Given the description of an element on the screen output the (x, y) to click on. 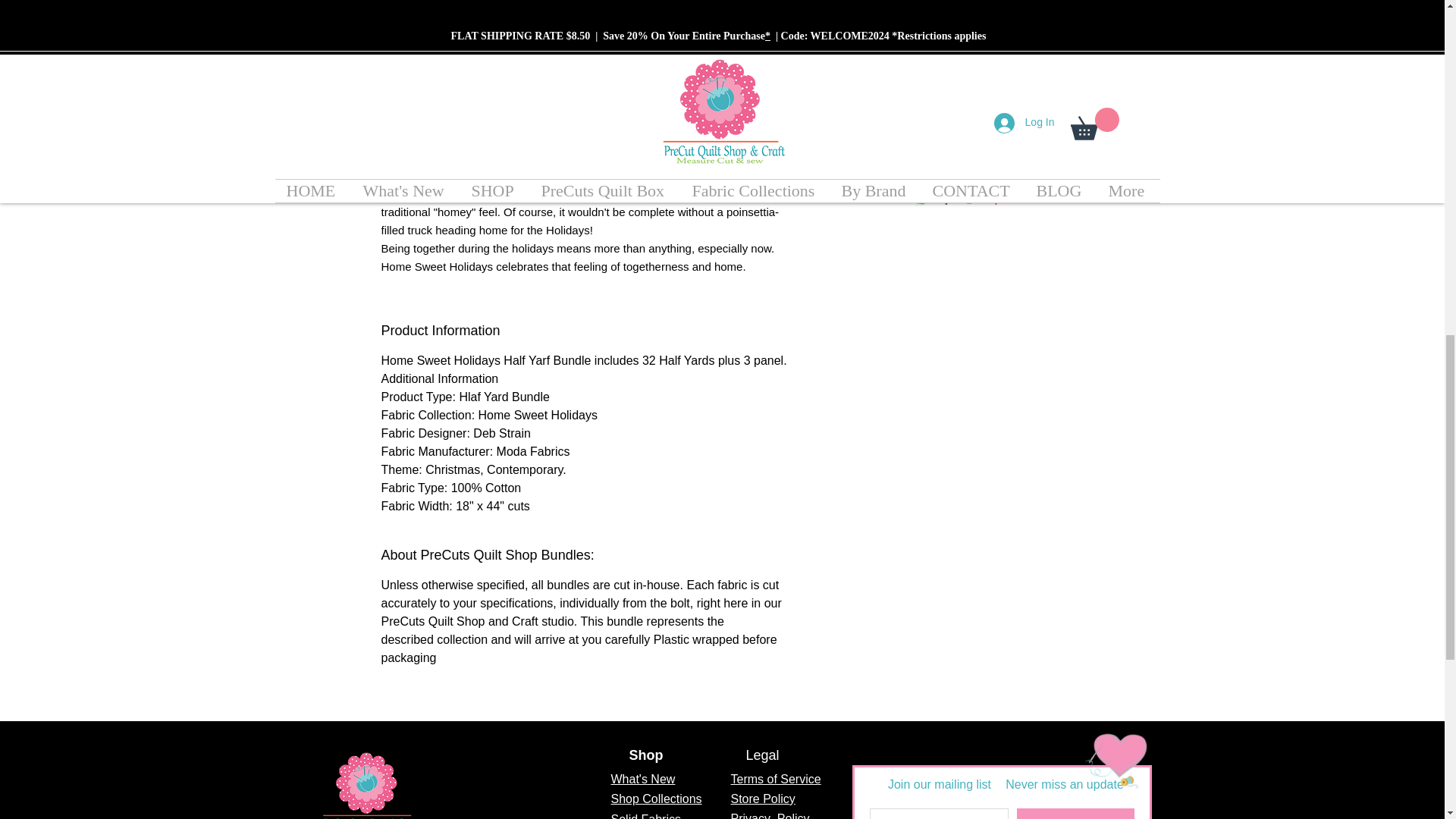
1 (959, 108)
Precuts Quilt Shop Online Fabric Store (367, 783)
Contact us (1110, 749)
